Given the description of an element on the screen output the (x, y) to click on. 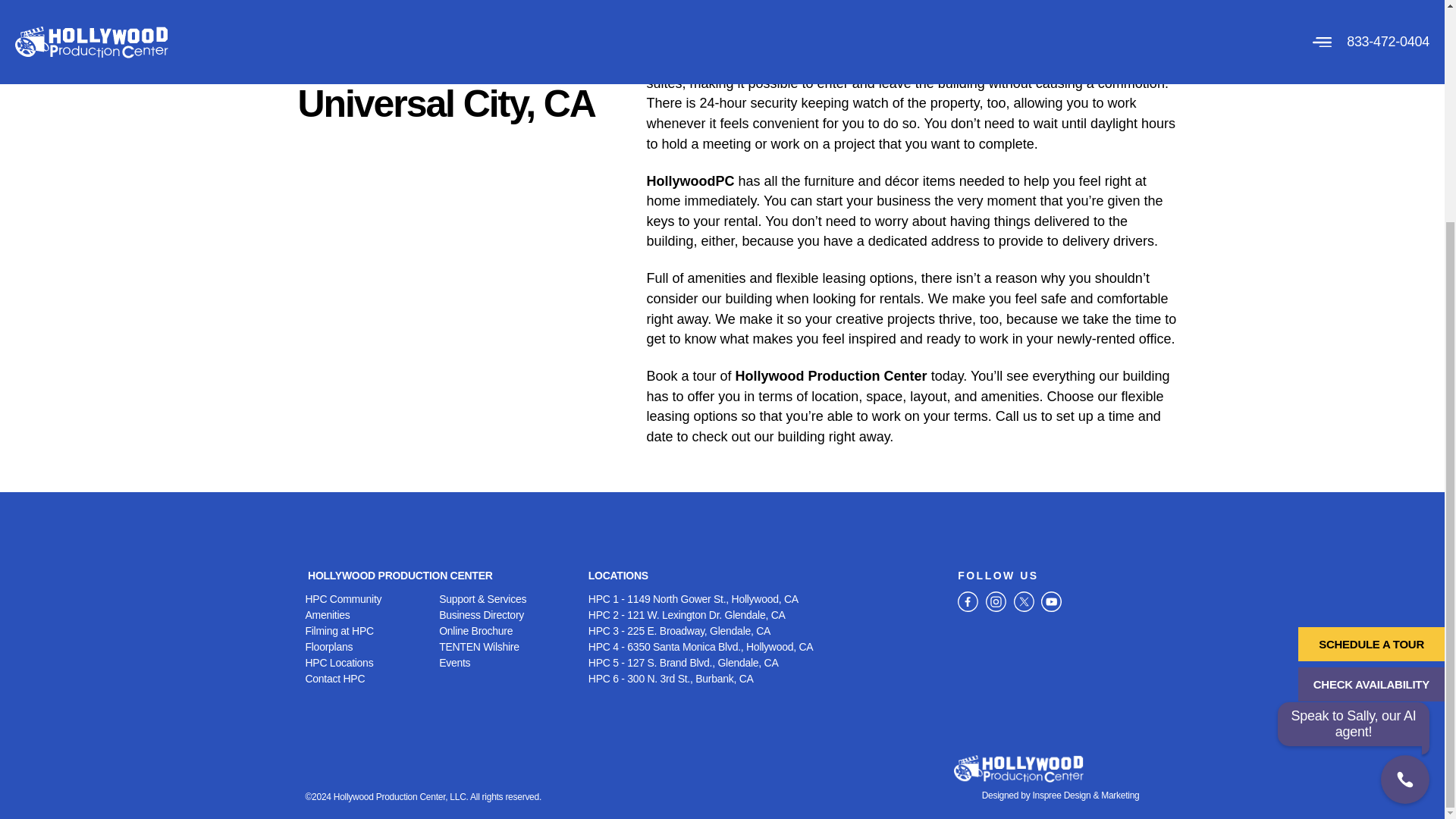
Contact HPC (371, 678)
HPC 4 - 6350 Santa Monica Blvd., Hollywood, CA (765, 647)
TENTEN Wilshire (506, 647)
HPC Locations (371, 662)
HPC 3 - 225 E. Broadway, Glendale, CA (765, 631)
HPC 2 - 121 W. Lexington Dr. Glendale, CA (765, 615)
Hollywood Production Center (831, 376)
Filming at HPC (371, 631)
Events (506, 662)
HPC 6 - 300 N. 3rd St., Burbank, CA (765, 678)
